Given the description of an element on the screen output the (x, y) to click on. 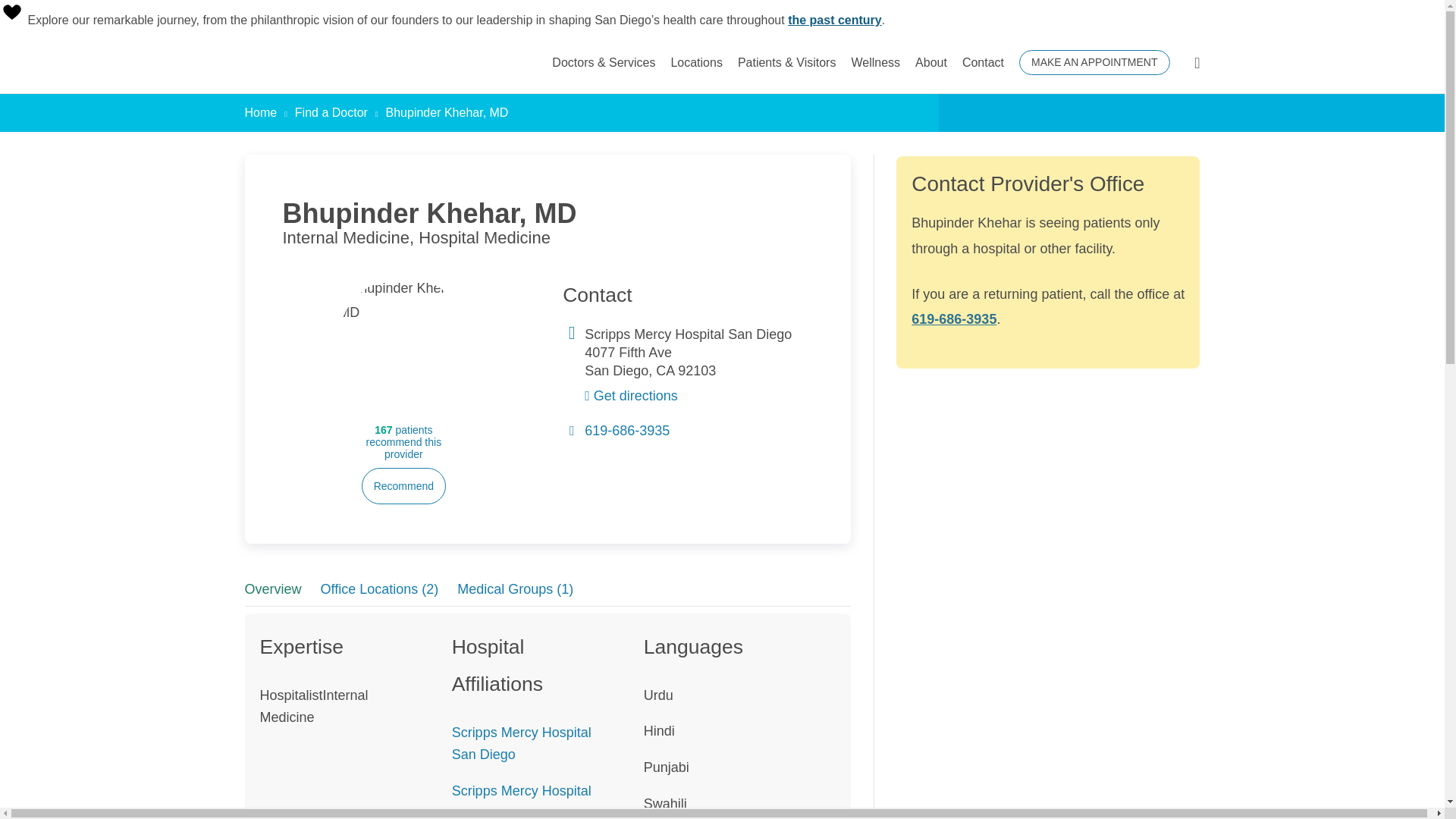
the past century (834, 19)
619-686-3935 (627, 430)
Recommend (403, 485)
Wellness (874, 62)
92103 (697, 370)
Locations (695, 62)
California (665, 370)
